Given the description of an element on the screen output the (x, y) to click on. 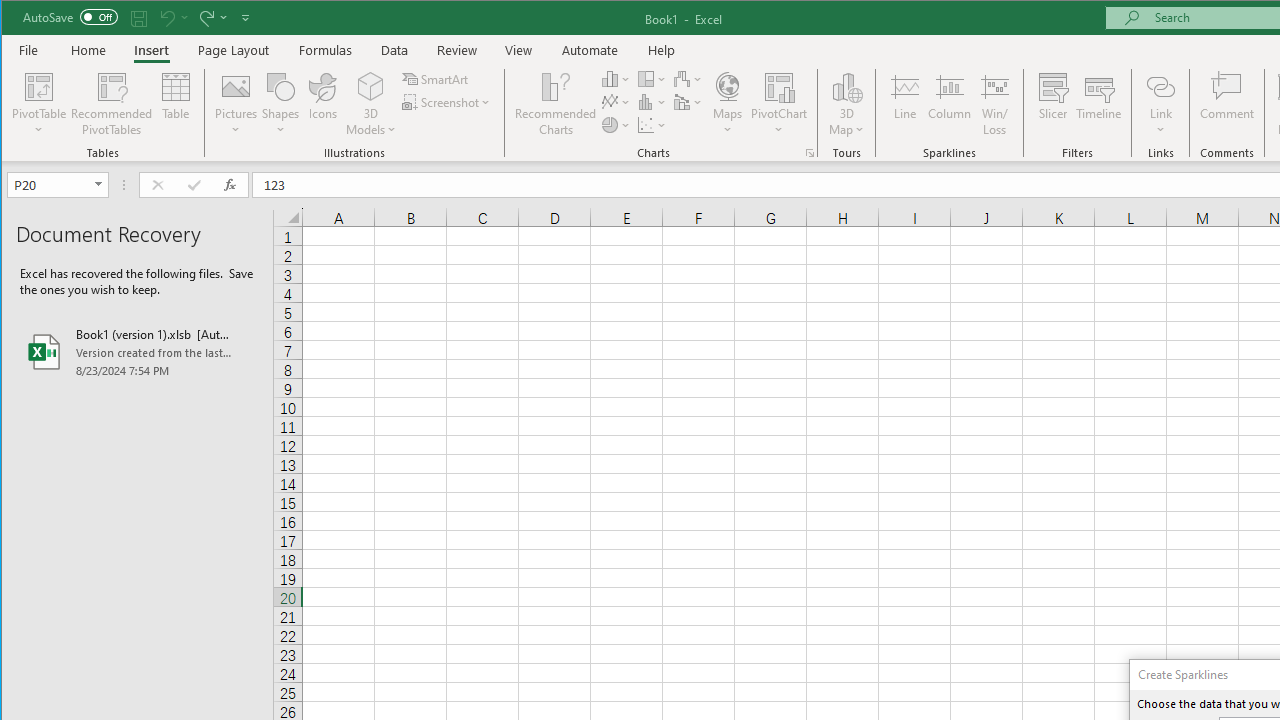
3D Map (846, 104)
Insert Statistic Chart (652, 101)
3D Models (371, 104)
Screenshot (447, 101)
3D Map (846, 86)
Icons (323, 104)
Insert Line or Area Chart (616, 101)
Shapes (280, 104)
Insert Pie or Doughnut Chart (616, 124)
